Given the description of an element on the screen output the (x, y) to click on. 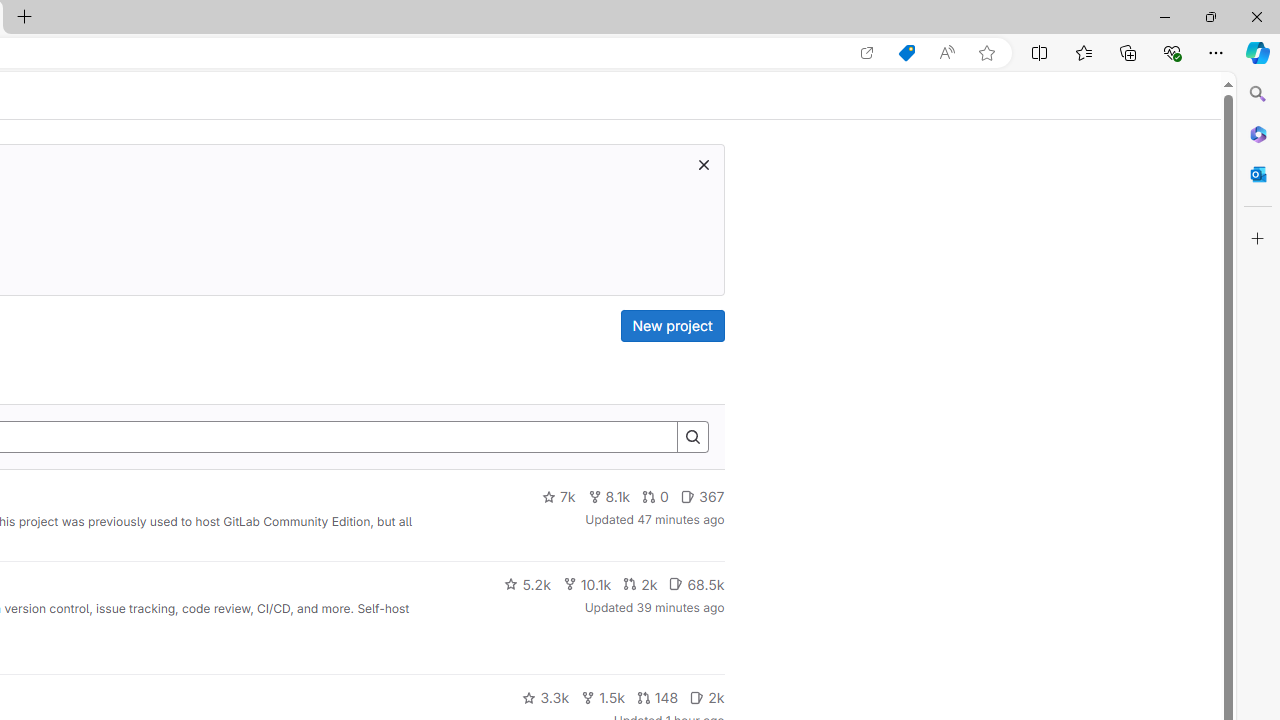
367 (701, 497)
5.2k (527, 583)
Class: s16 gl-icon gl-button-icon  (703, 164)
1.5k (602, 697)
New project (671, 326)
148 (657, 697)
